Given the description of an element on the screen output the (x, y) to click on. 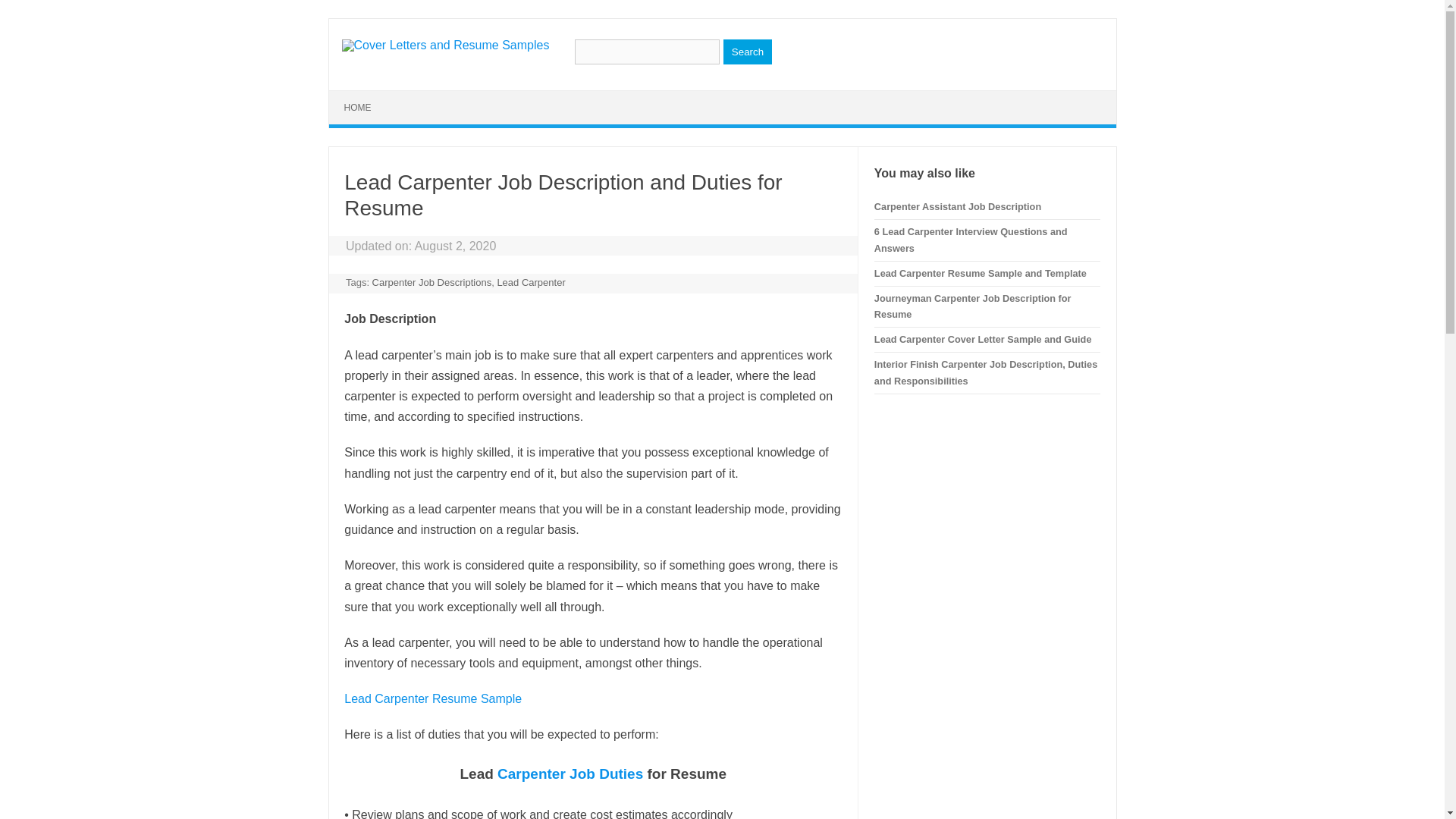
Search (747, 51)
Cover Letters and Resume Samples (444, 44)
Lead Carpenter Cover Letter Sample and Guide (983, 338)
Carpenter Assistant Job Description (958, 206)
Journeyman Carpenter Job Description for Resume (973, 306)
6 Lead Carpenter Interview Questions and Answers (971, 239)
Carpenter Job Duties (570, 773)
Lead Carpenter Resume Sample (432, 698)
